Given the description of an element on the screen output the (x, y) to click on. 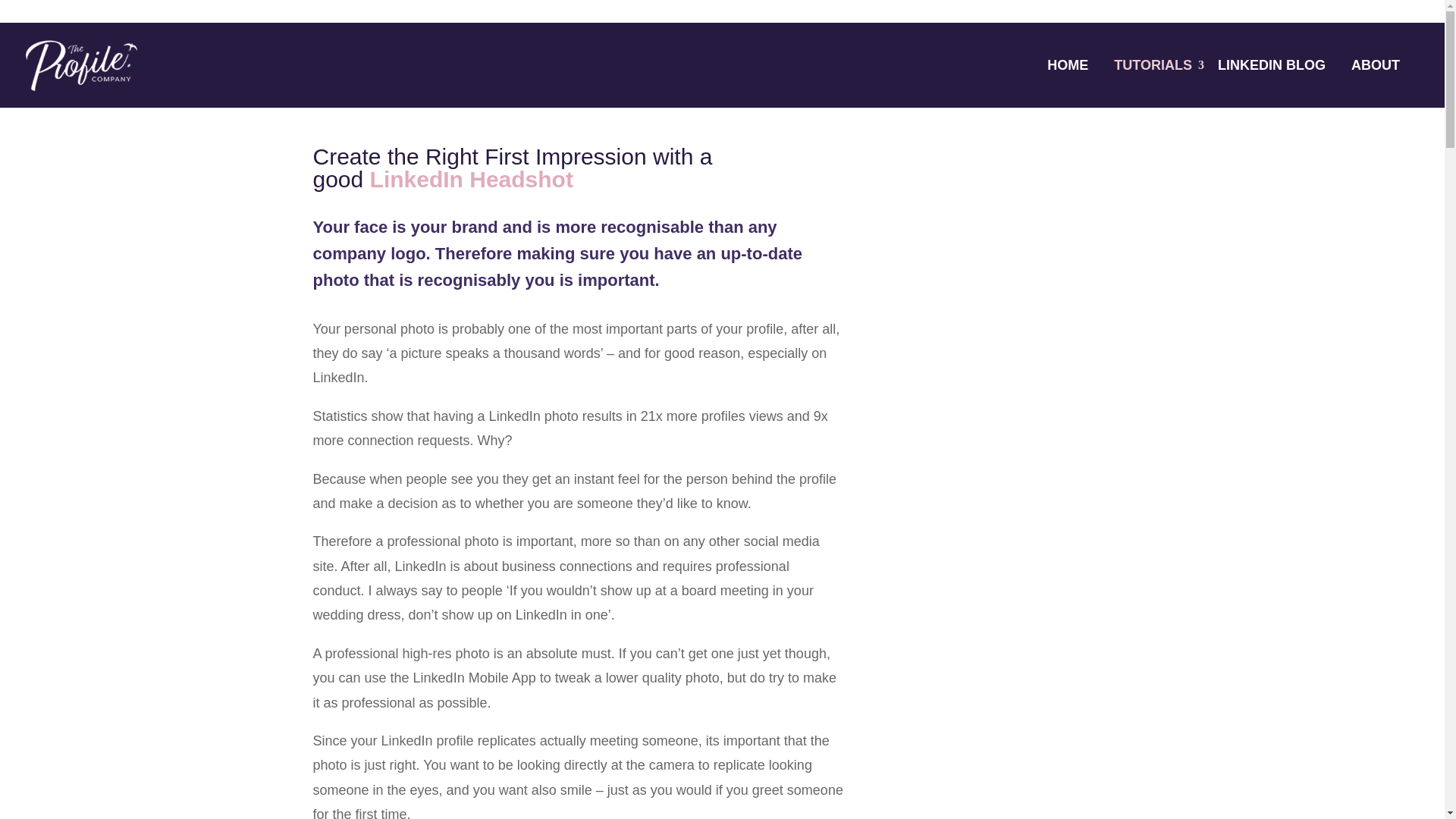
ABOUT (1375, 65)
LINKEDIN BLOG (1271, 65)
TUTORIALS (1152, 65)
HOME (1067, 65)
